Given the description of an element on the screen output the (x, y) to click on. 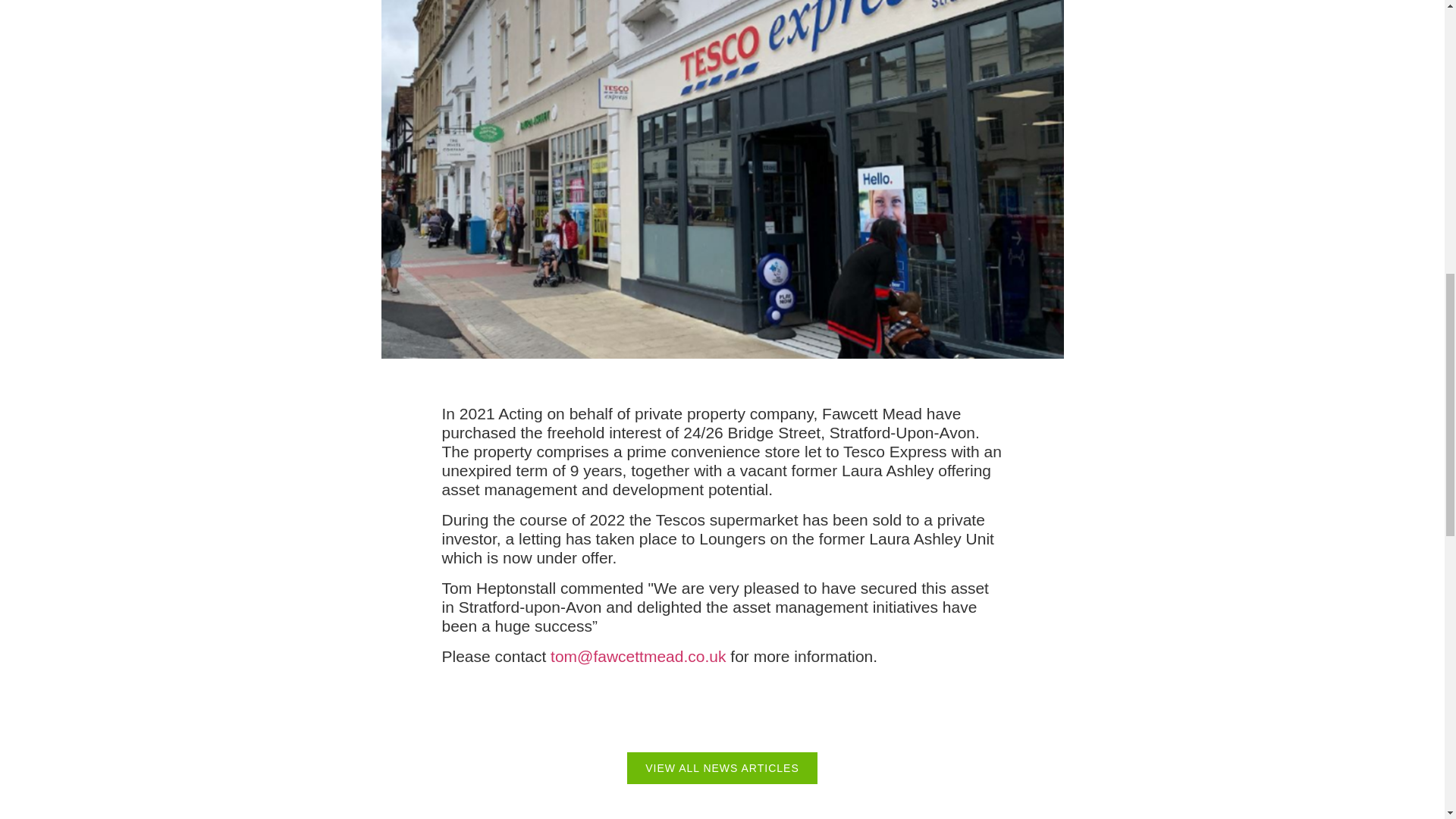
VIEW ALL NEWS ARTICLES (721, 767)
